Given the description of an element on the screen output the (x, y) to click on. 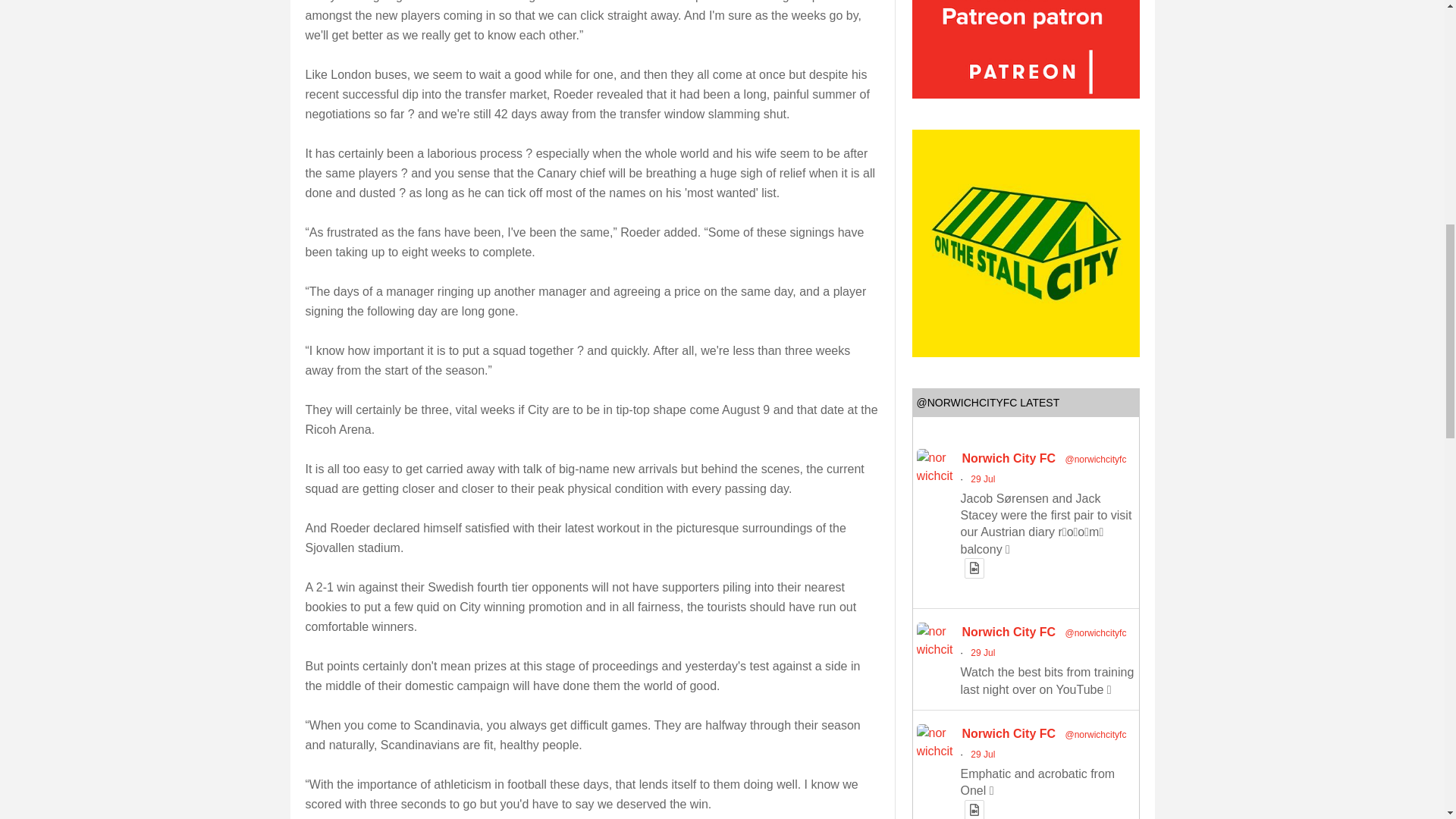
Norwich City FC (1007, 458)
29 Jul (982, 479)
